Given the description of an element on the screen output the (x, y) to click on. 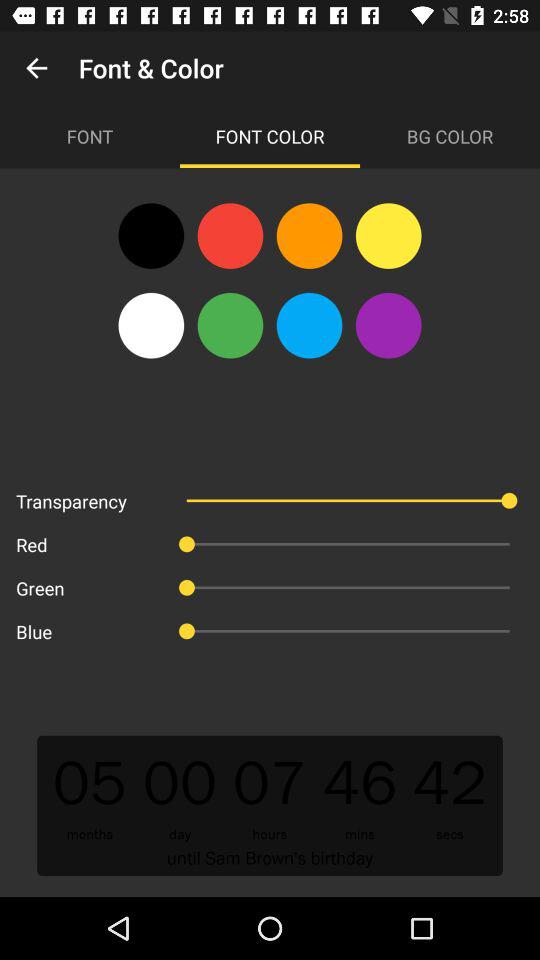
turn off item to the left of the font & color item (36, 68)
